Given the description of an element on the screen output the (x, y) to click on. 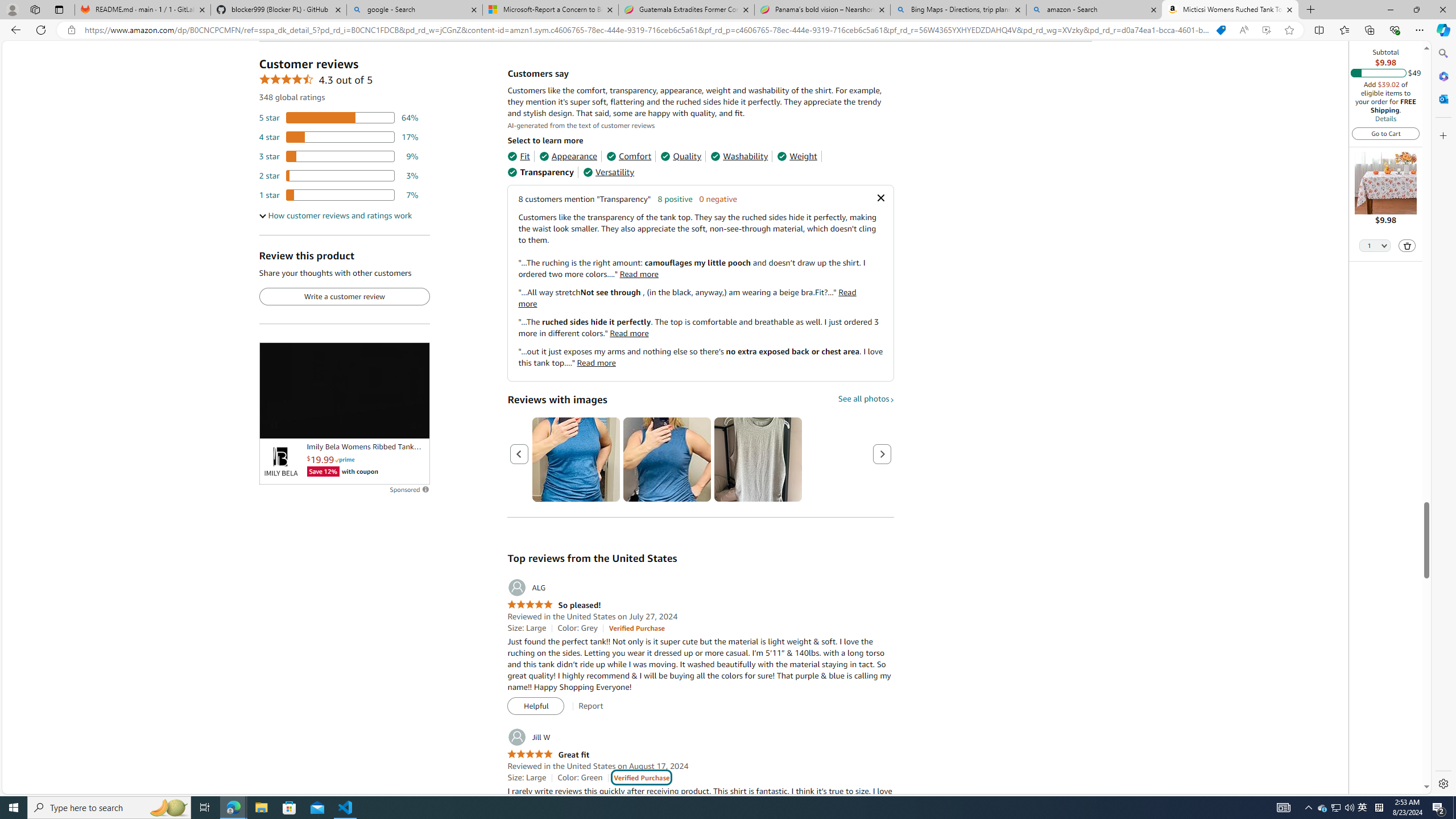
Customer Image (758, 459)
amazon - Search (1094, 9)
Enhance video (1266, 29)
ALG (526, 587)
Logo (280, 461)
Prime (344, 459)
9 percent of reviews have 3 stars (339, 156)
Comfort (628, 156)
